Given the description of an element on the screen output the (x, y) to click on. 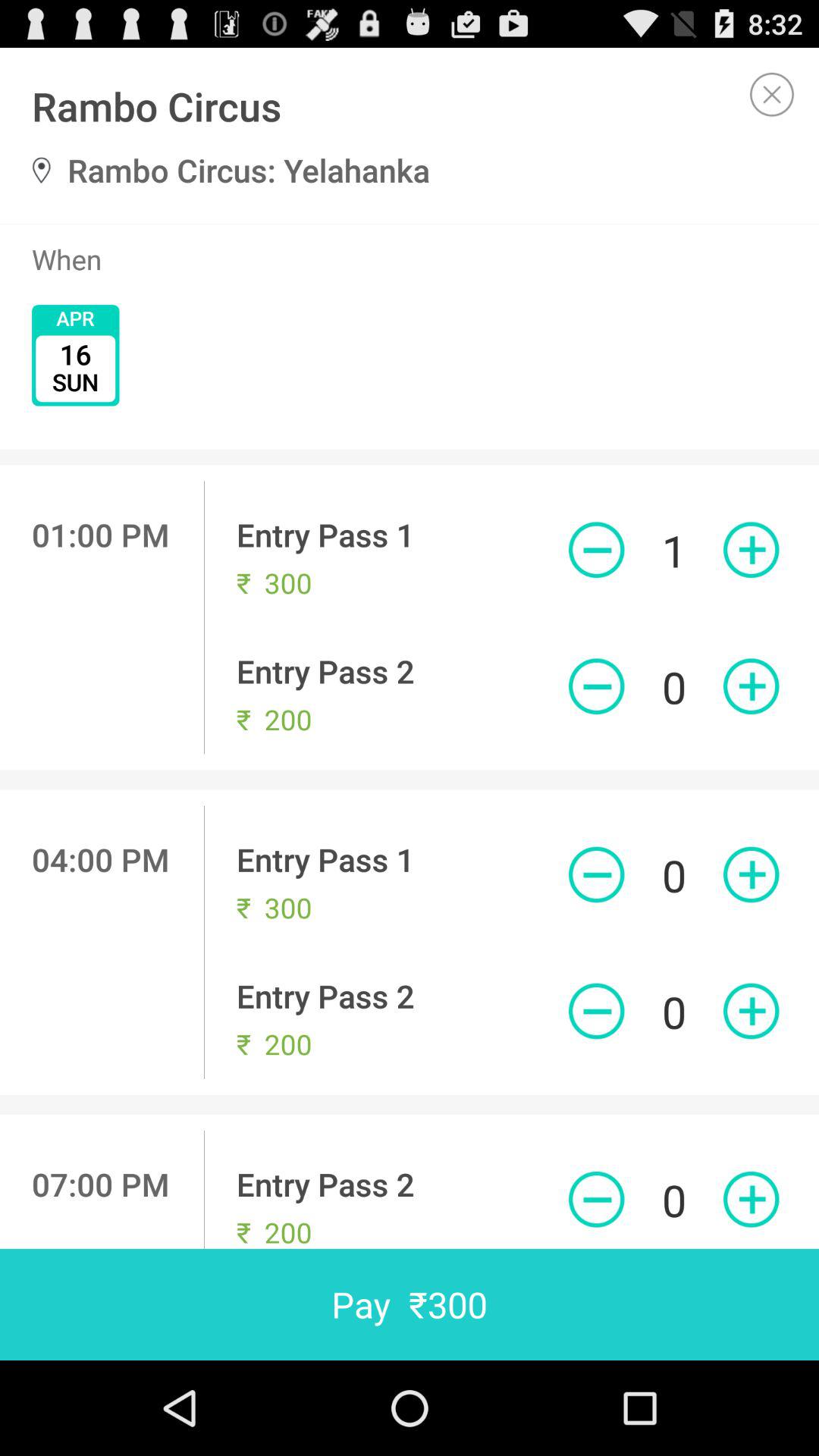
add entry pass (751, 549)
